Given the description of an element on the screen output the (x, y) to click on. 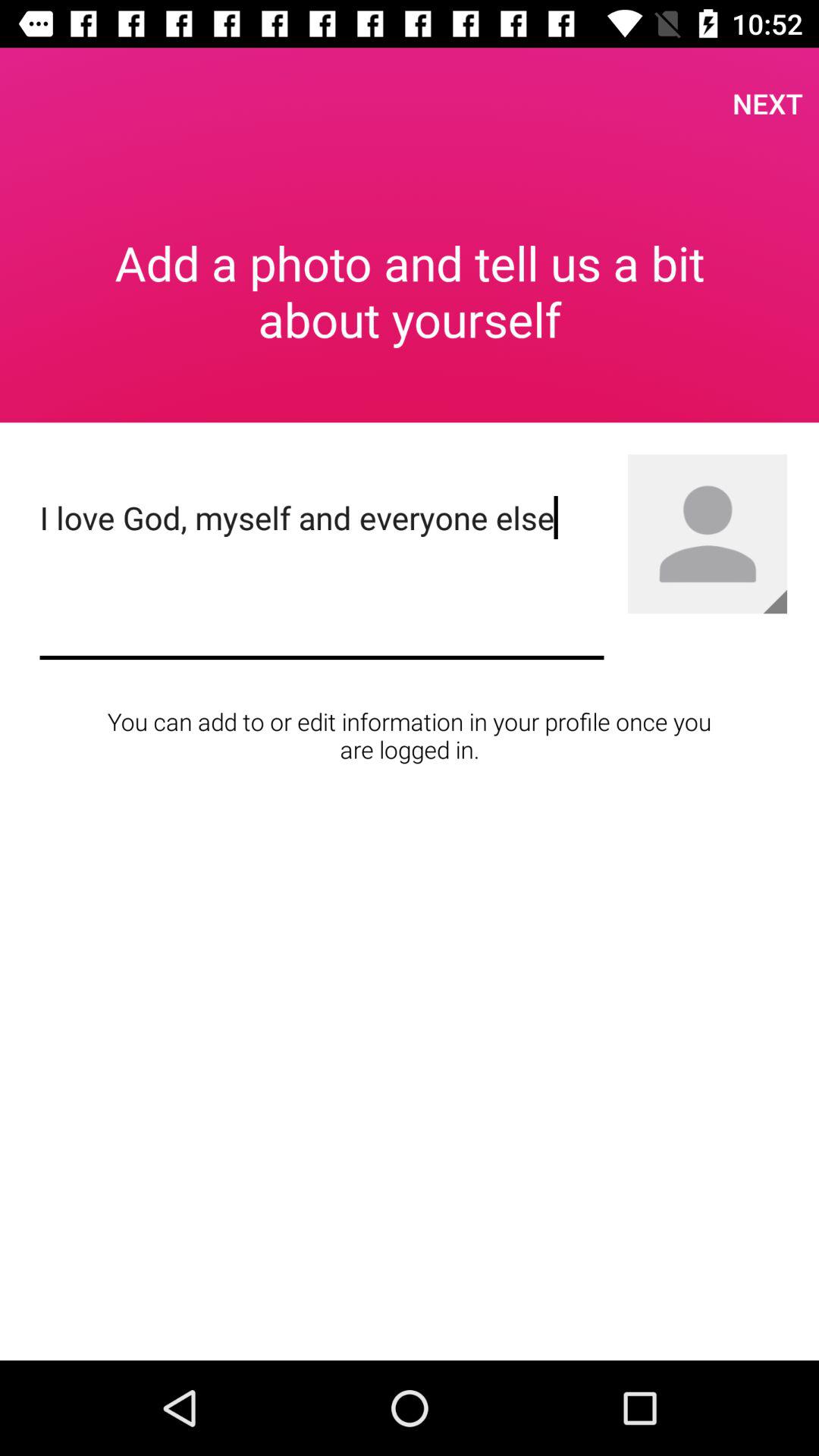
click next at the top right corner (767, 103)
